Given the description of an element on the screen output the (x, y) to click on. 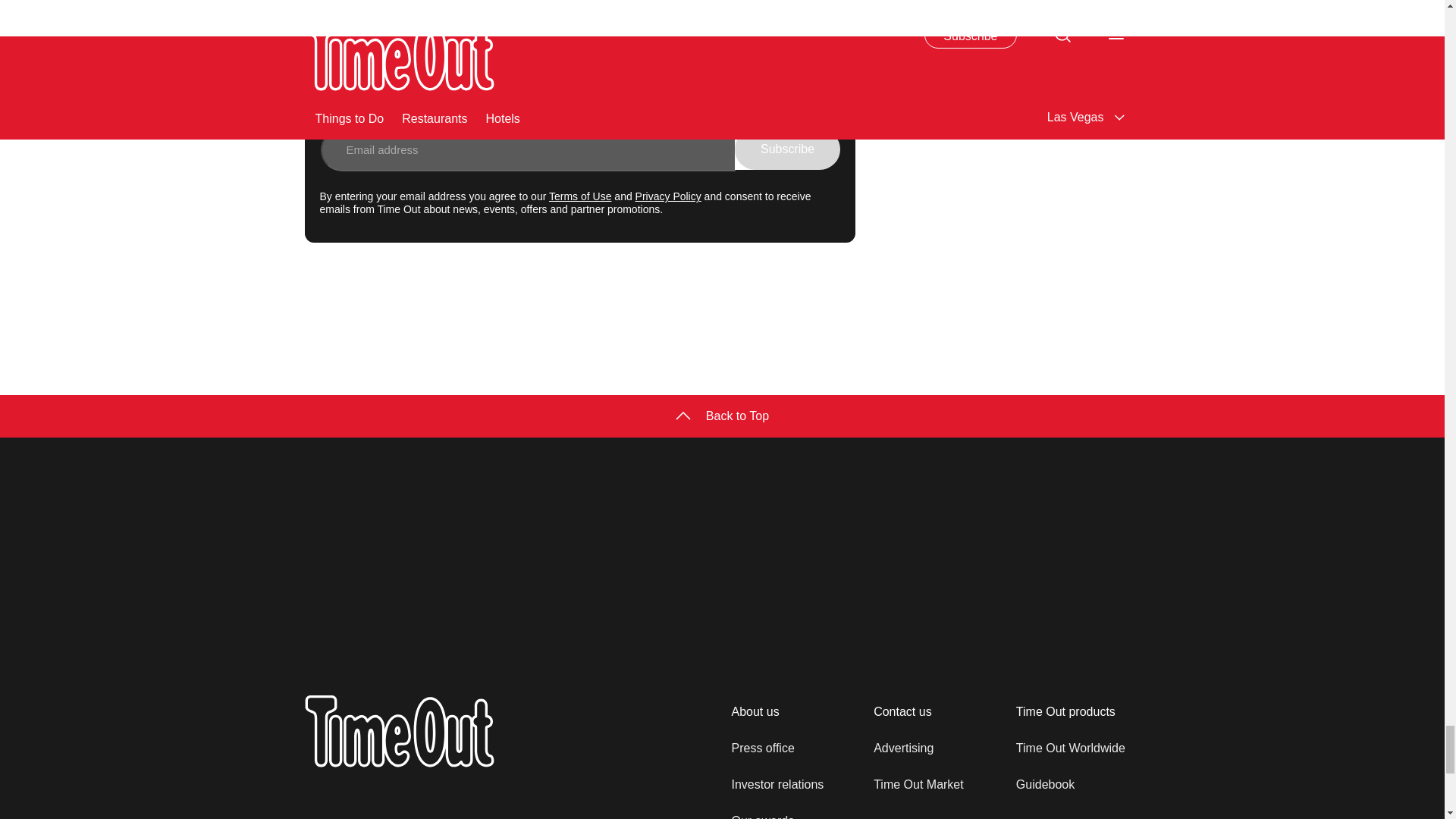
Subscribe (787, 148)
